Given the description of an element on the screen output the (x, y) to click on. 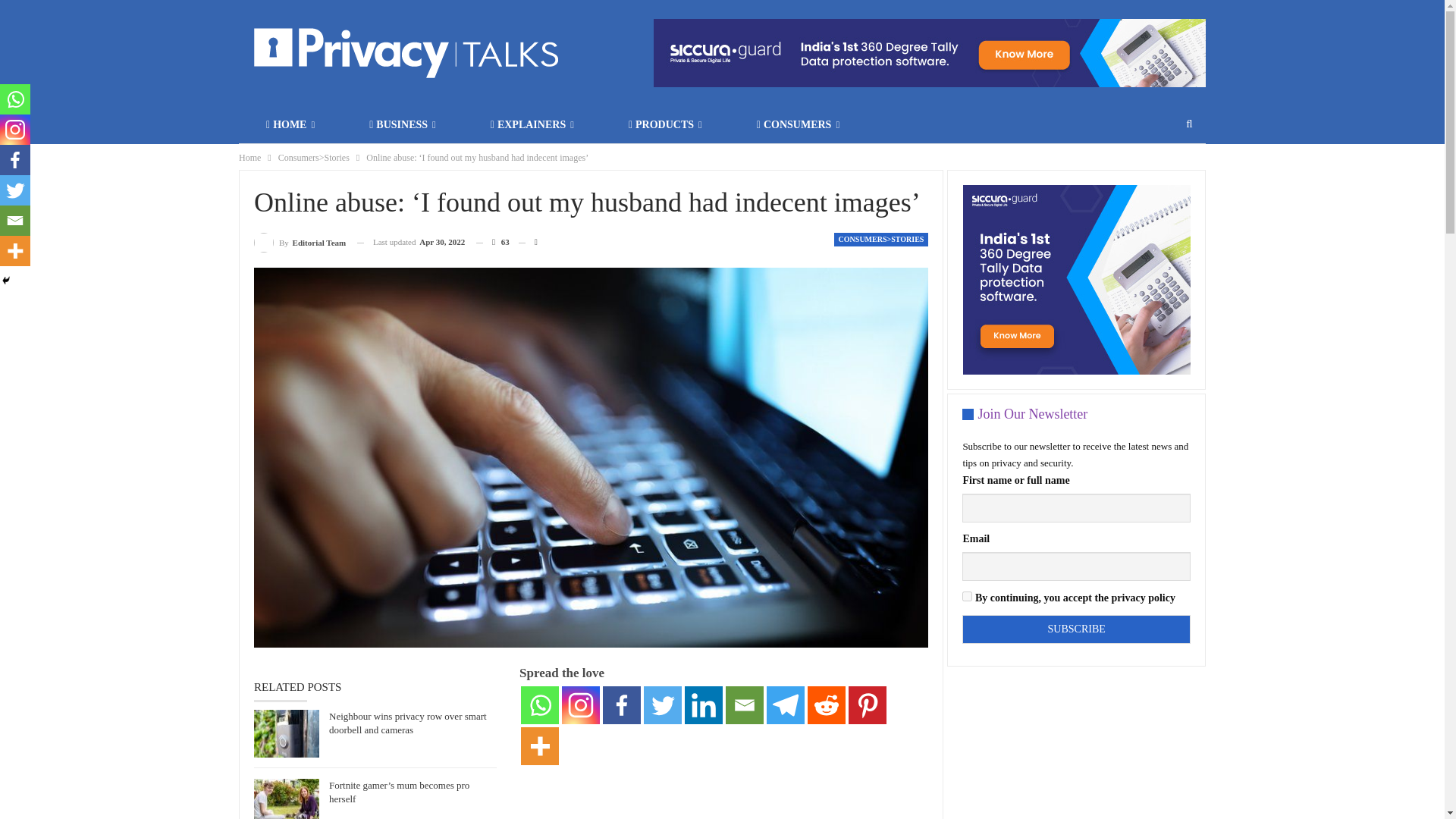
CONSUMERS (797, 125)
Neighbour wins privacy row over smart doorbell and cameras (407, 722)
Instagram (580, 704)
HOME (290, 125)
EXPLAINERS (532, 125)
Browse Author Articles (299, 241)
Email (743, 704)
By Editorial Team (299, 241)
Twitter (662, 704)
Facebook (621, 704)
Pinterest (867, 704)
More (540, 745)
PRODUCTS (665, 125)
Linkedin (703, 704)
Reddit (826, 704)
